Given the description of an element on the screen output the (x, y) to click on. 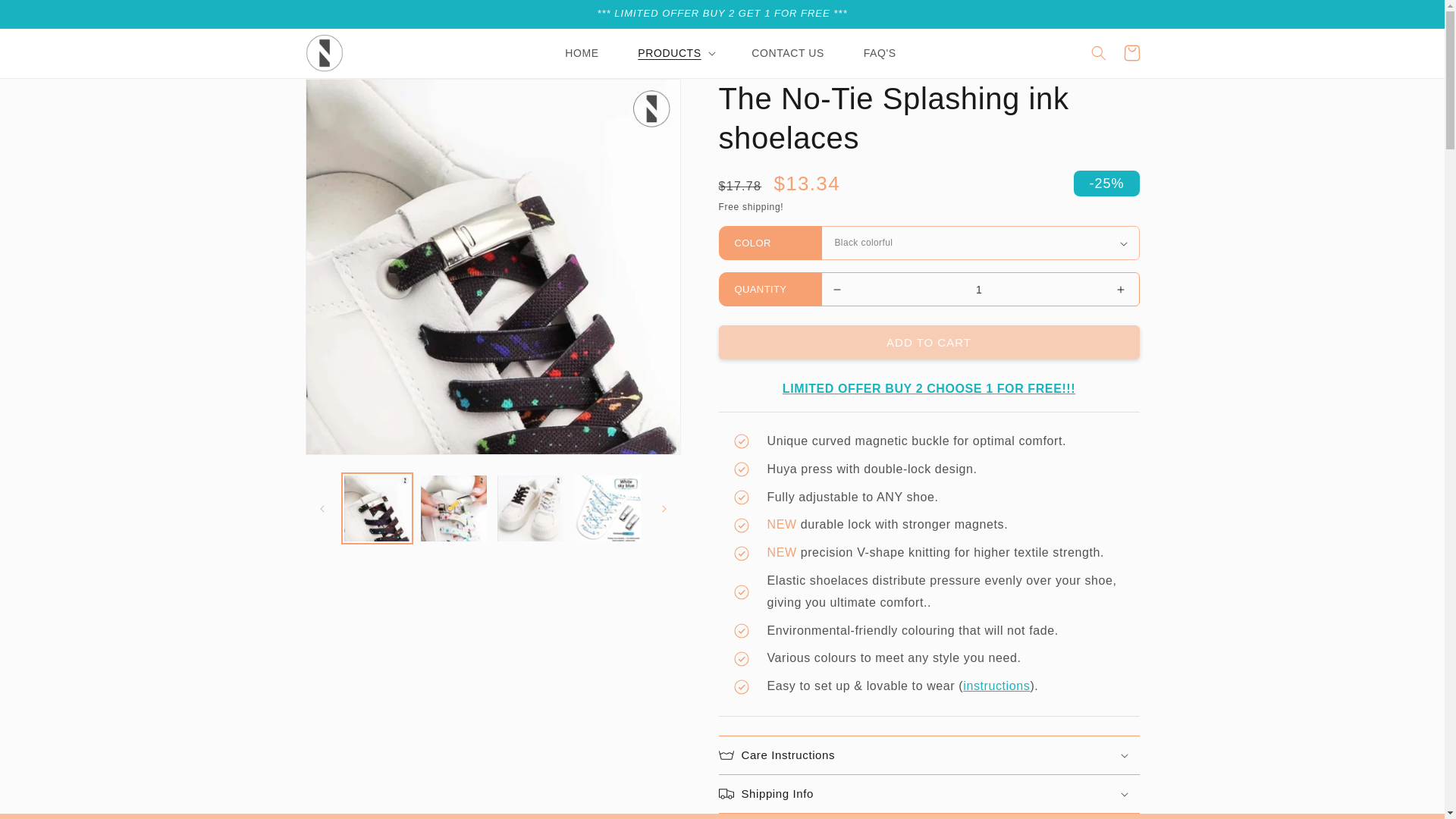
Skip to product information (350, 94)
Cart (1131, 52)
FAQ'S (879, 52)
Skip to content (45, 16)
CONTACT US (787, 52)
HOME (581, 52)
1 (978, 288)
